Given the description of an element on the screen output the (x, y) to click on. 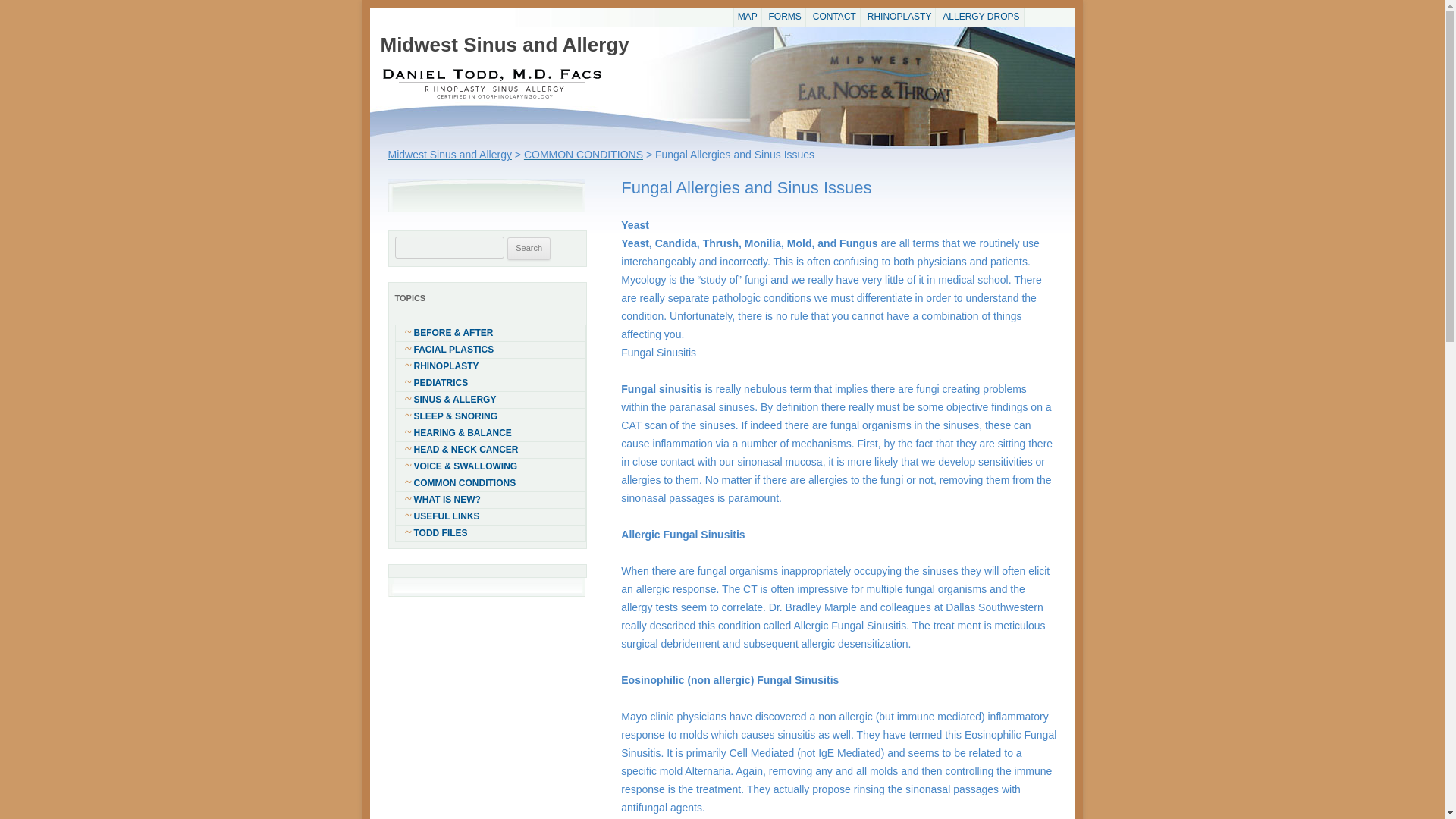
COMMON CONDITIONS (490, 483)
RHINOPLASTY (490, 366)
Midwest Sinus and Allergy (504, 45)
ALLERGY DROPS (981, 16)
RHINOPLASTY (899, 16)
Skip to content (760, 18)
PEDIATRICS (490, 383)
FORMS (785, 16)
Midwest Sinus and Allergy (450, 154)
Skip to content (760, 18)
Search (528, 248)
Search (528, 248)
MAP (747, 16)
Go to Midwest Sinus and Allergy. (450, 154)
Go to COMMON CONDITIONS. (583, 154)
